Given the description of an element on the screen output the (x, y) to click on. 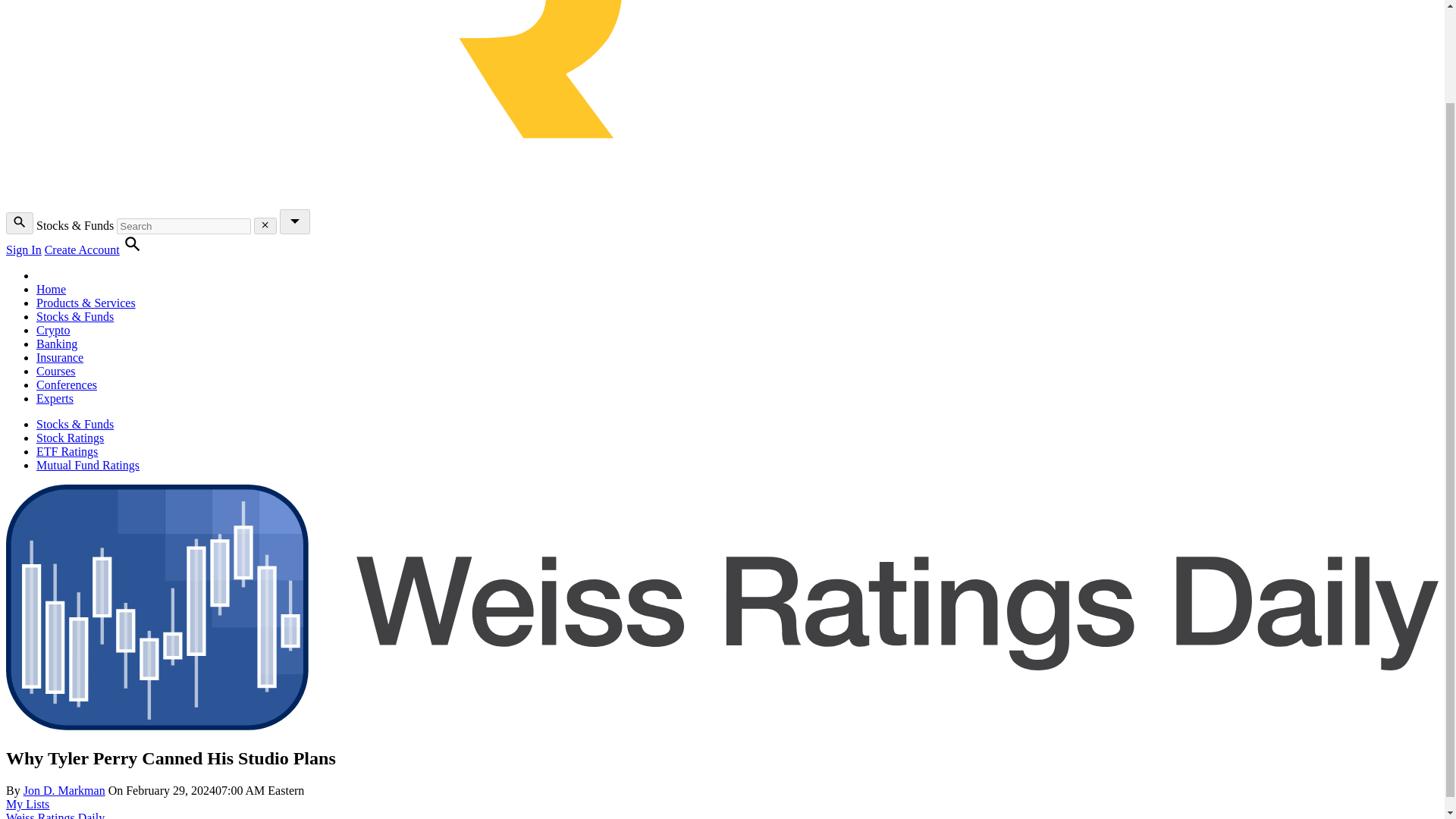
My Lists (27, 803)
Experts (55, 398)
Courses (55, 370)
Jon D. Markman (63, 789)
Search (132, 249)
Create Account (82, 249)
Manage My Lists (27, 803)
Search Weiss Ratings (19, 223)
ETF Ratings (66, 451)
Stock Ratings (69, 437)
